Given the description of an element on the screen output the (x, y) to click on. 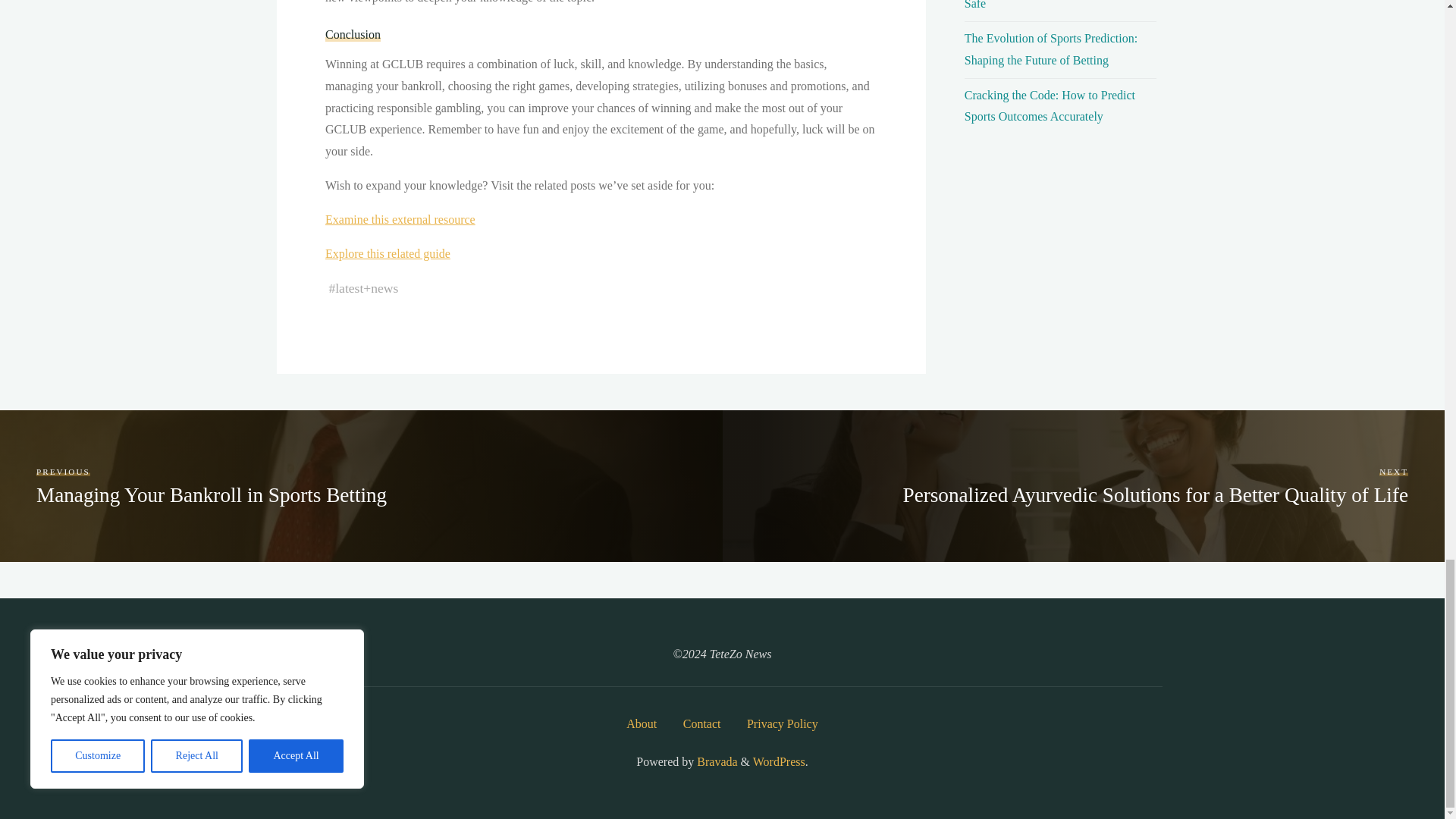
Examine this external resource (399, 219)
Bravada WordPress Theme by Cryout Creations (715, 761)
Semantic Personal Publishing Platform (778, 761)
Explore this related guide (386, 253)
